Given the description of an element on the screen output the (x, y) to click on. 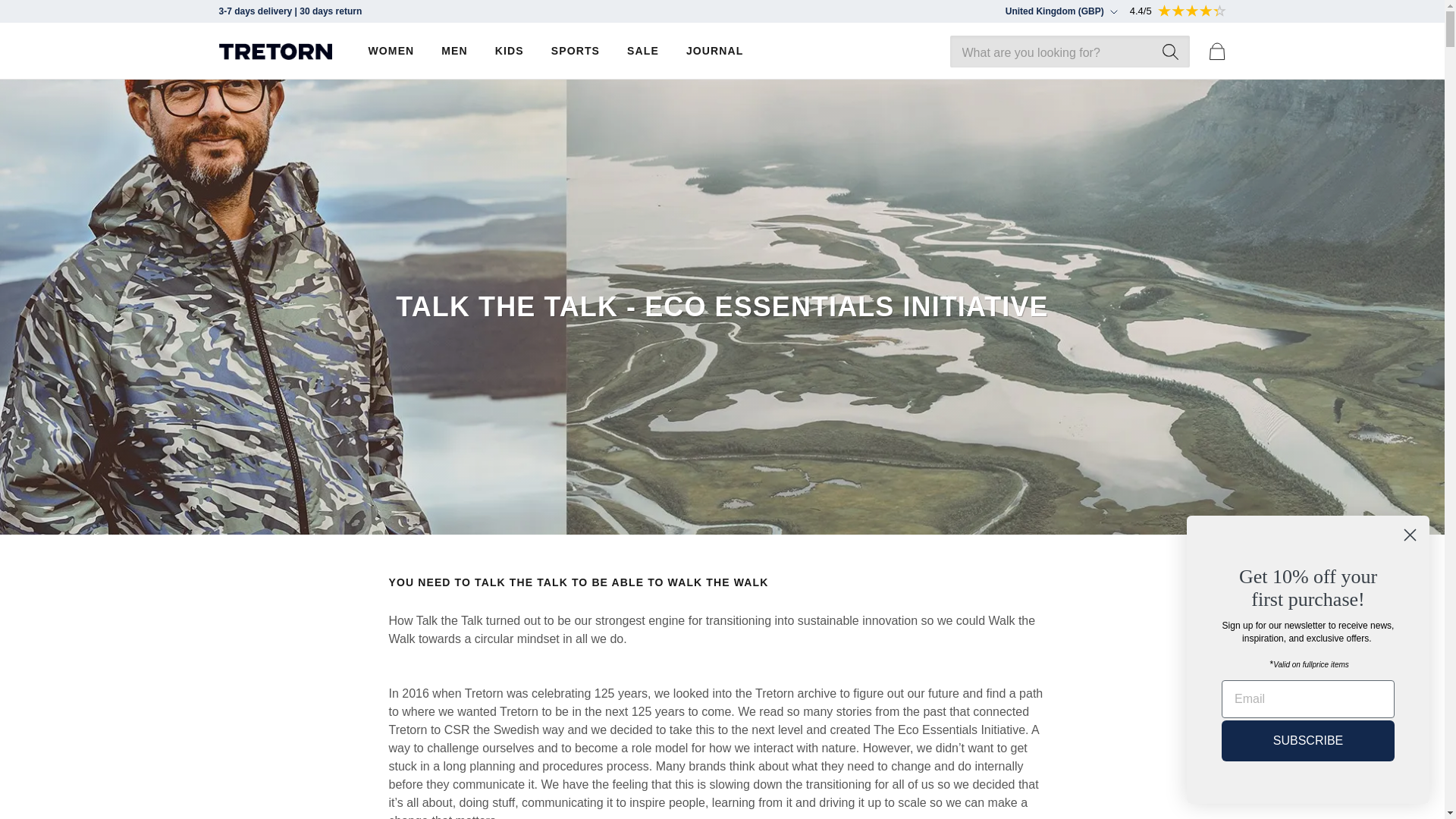
MEN (454, 50)
WOMEN (391, 50)
